Given the description of an element on the screen output the (x, y) to click on. 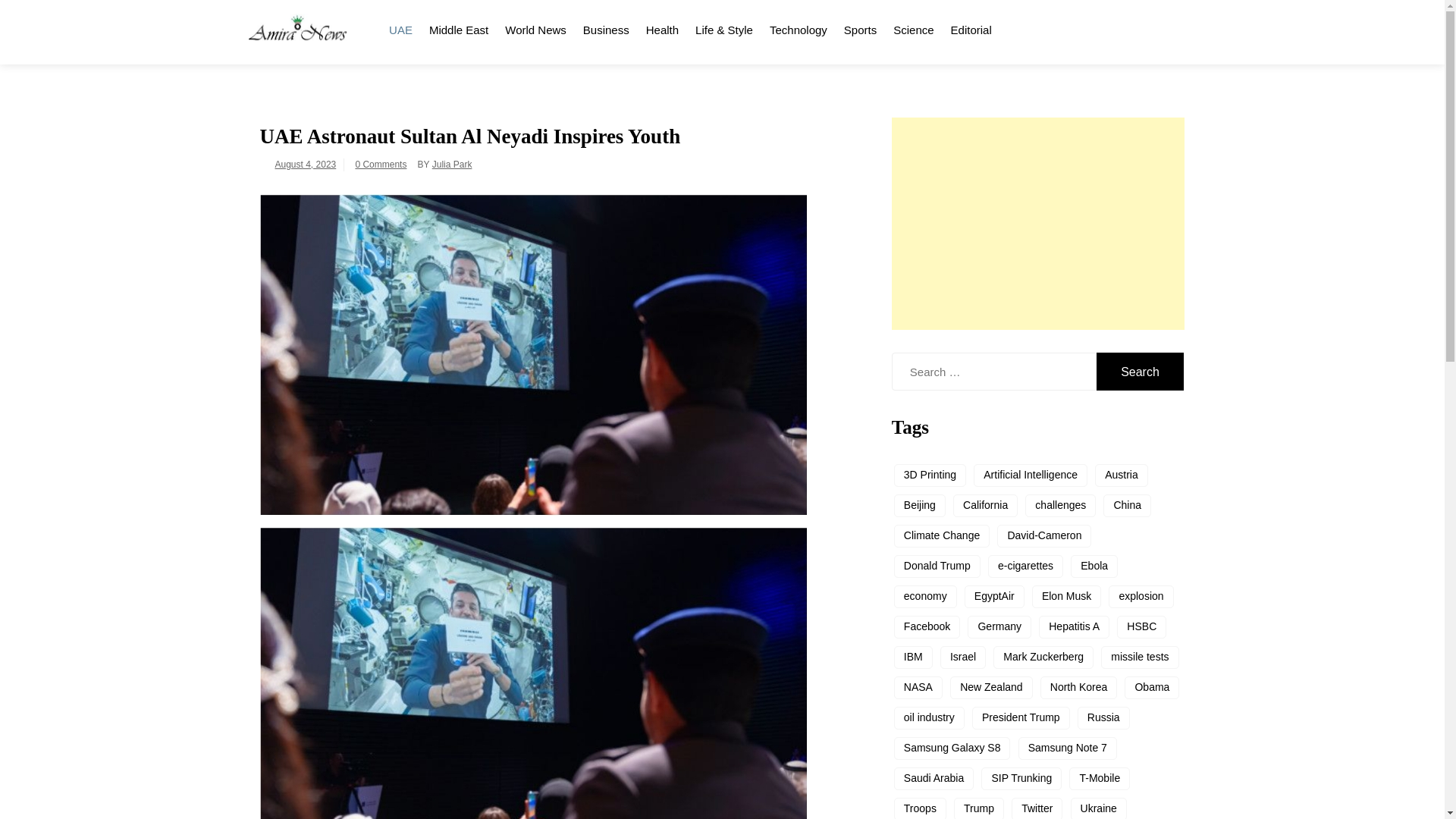
Middle East (458, 28)
Sports (860, 28)
Technology (798, 28)
Beijing (918, 505)
UAE (400, 28)
3D Printing (929, 475)
Editorial (971, 28)
Artificial Intelligence (1030, 475)
Julia Park (451, 163)
August 4, 2023 (305, 163)
Business (606, 28)
Middle East (458, 28)
Science (913, 28)
Science (913, 28)
Search (1140, 371)
